Given the description of an element on the screen output the (x, y) to click on. 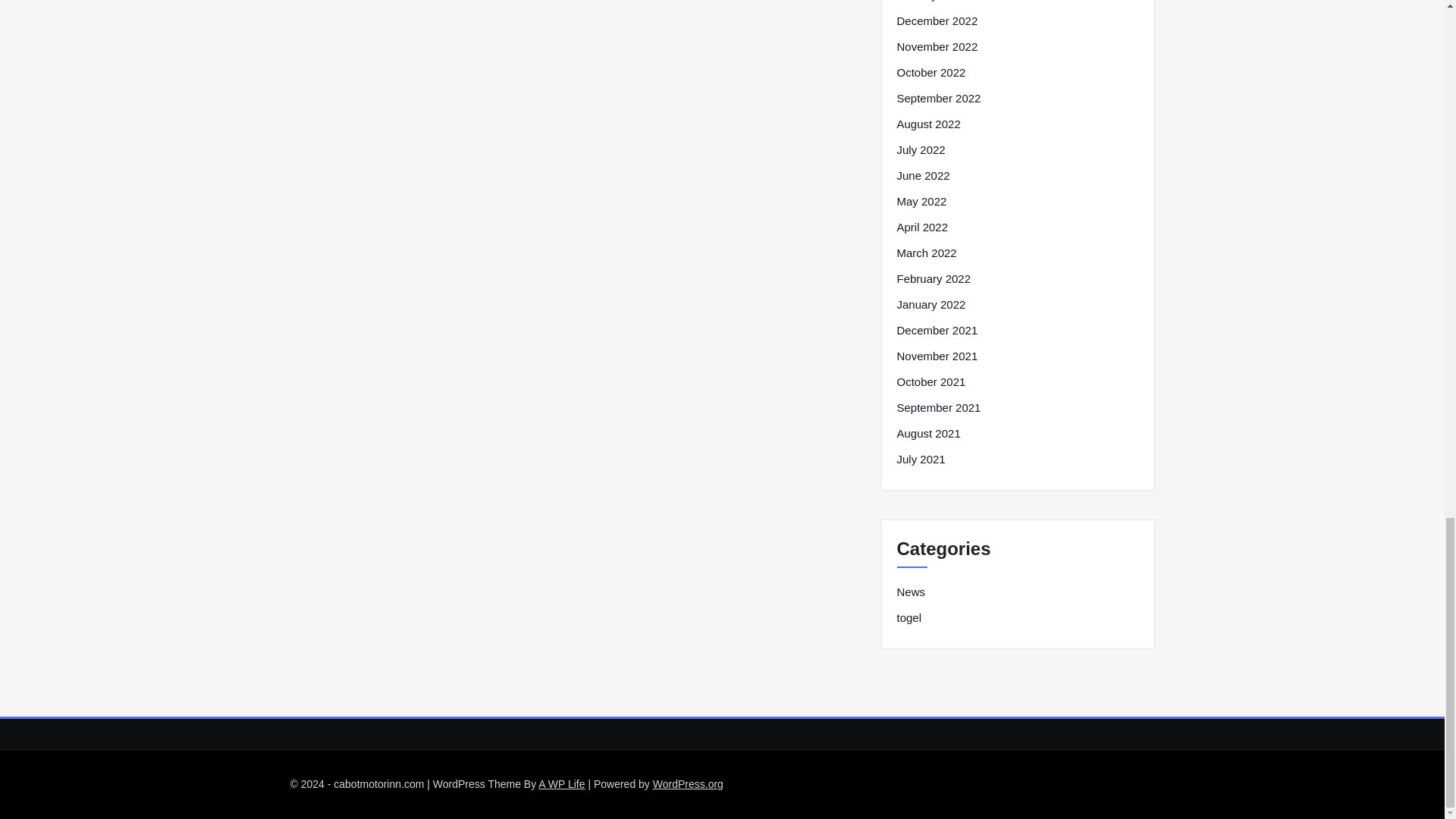
January 2023 (930, 2)
November 2022 (936, 46)
October 2022 (930, 72)
September 2022 (937, 98)
December 2022 (936, 21)
